Given the description of an element on the screen output the (x, y) to click on. 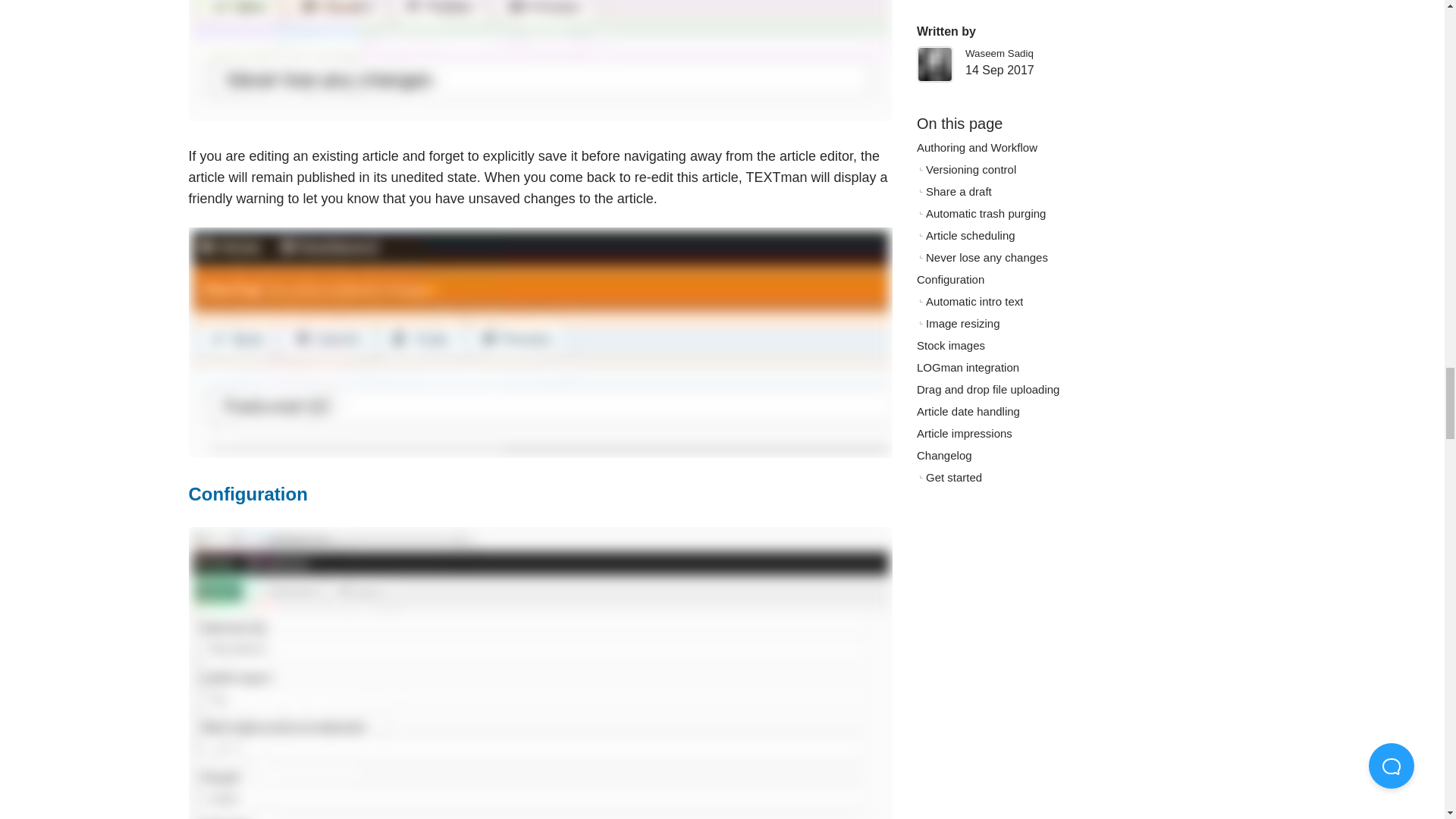
Configuration (247, 494)
